Given the description of an element on the screen output the (x, y) to click on. 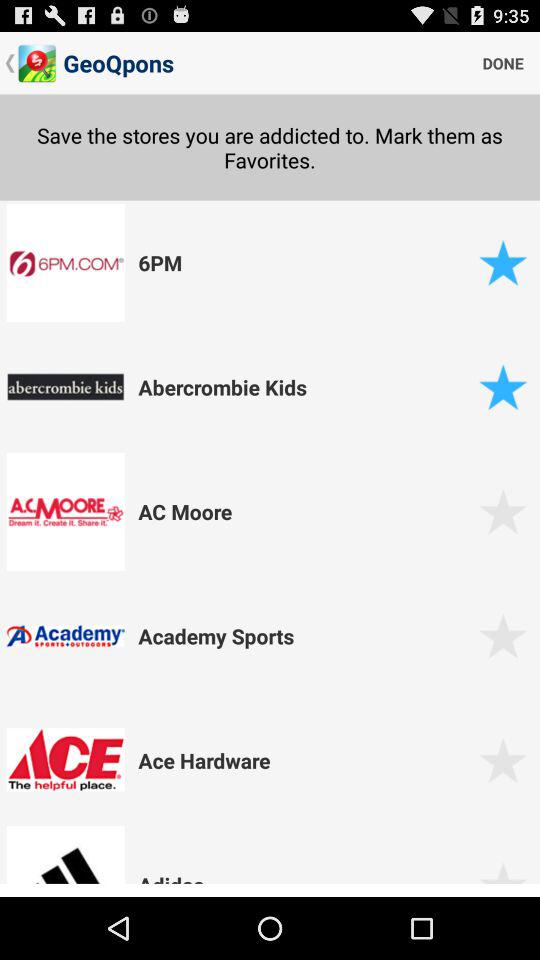
turn on item above save the stores icon (503, 62)
